Given the description of an element on the screen output the (x, y) to click on. 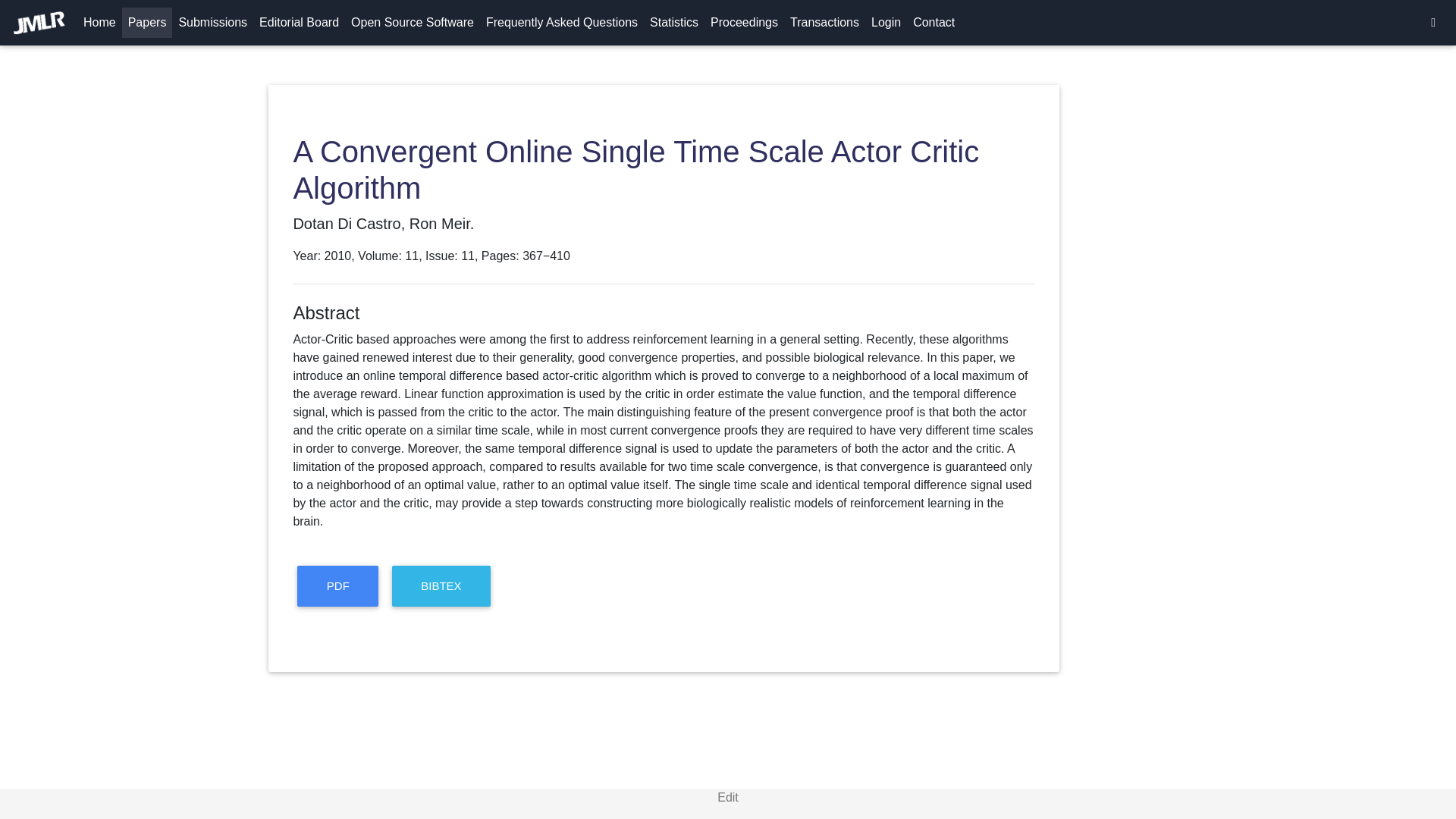
Editorial Board (299, 22)
BIBTEX (440, 586)
Proceedings (744, 22)
Statistics (673, 22)
Submissions (212, 22)
Contact (933, 22)
Login (885, 22)
Open Source Software (412, 22)
Frequently Asked Questions (561, 22)
PDF (337, 586)
Papers (147, 22)
A Convergent Online Single Time Scale Actor Critic Algorithm (635, 169)
11 (411, 255)
Transactions (824, 22)
